Given the description of an element on the screen output the (x, y) to click on. 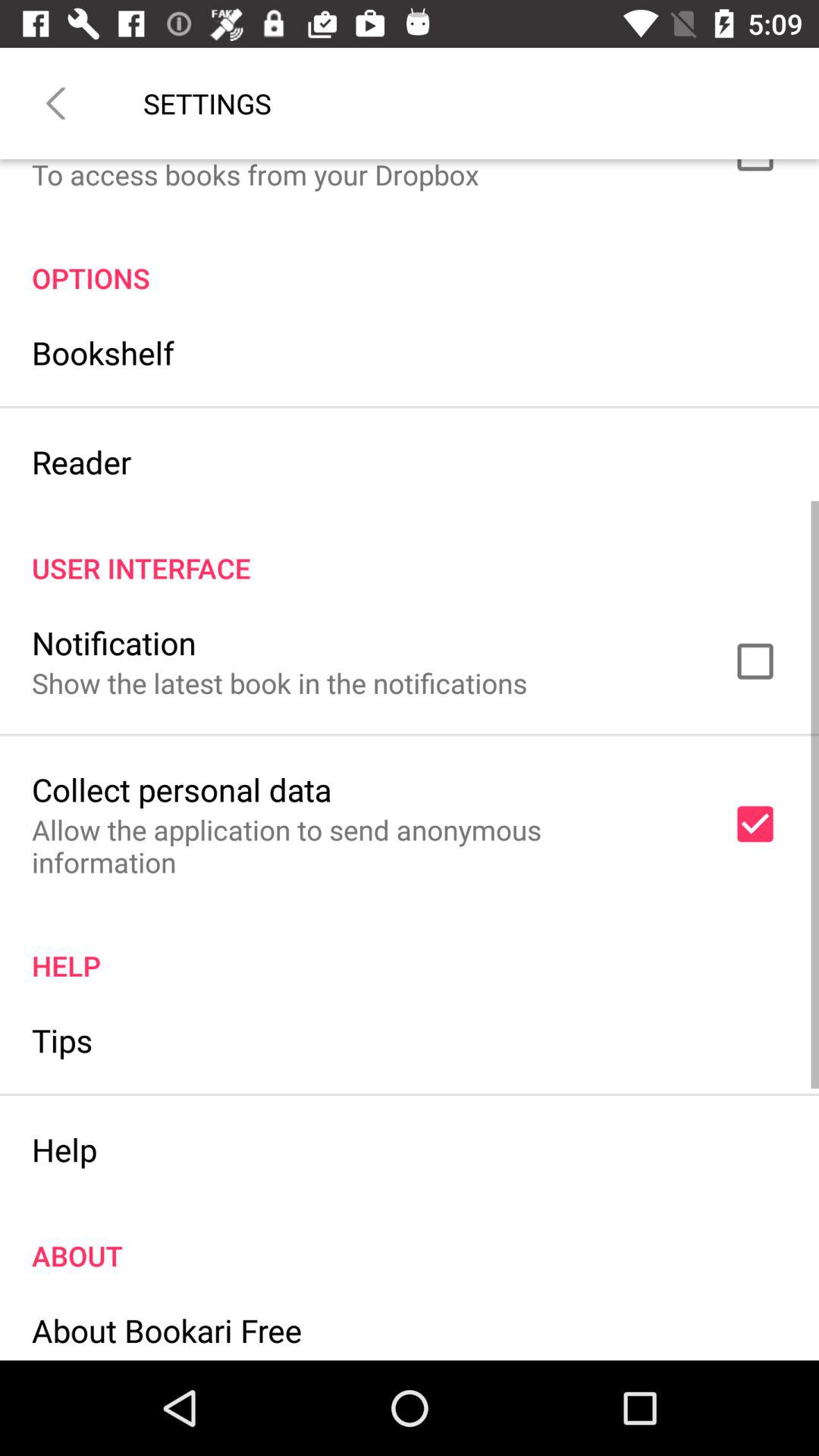
choose item above the help item (61, 1039)
